Given the description of an element on the screen output the (x, y) to click on. 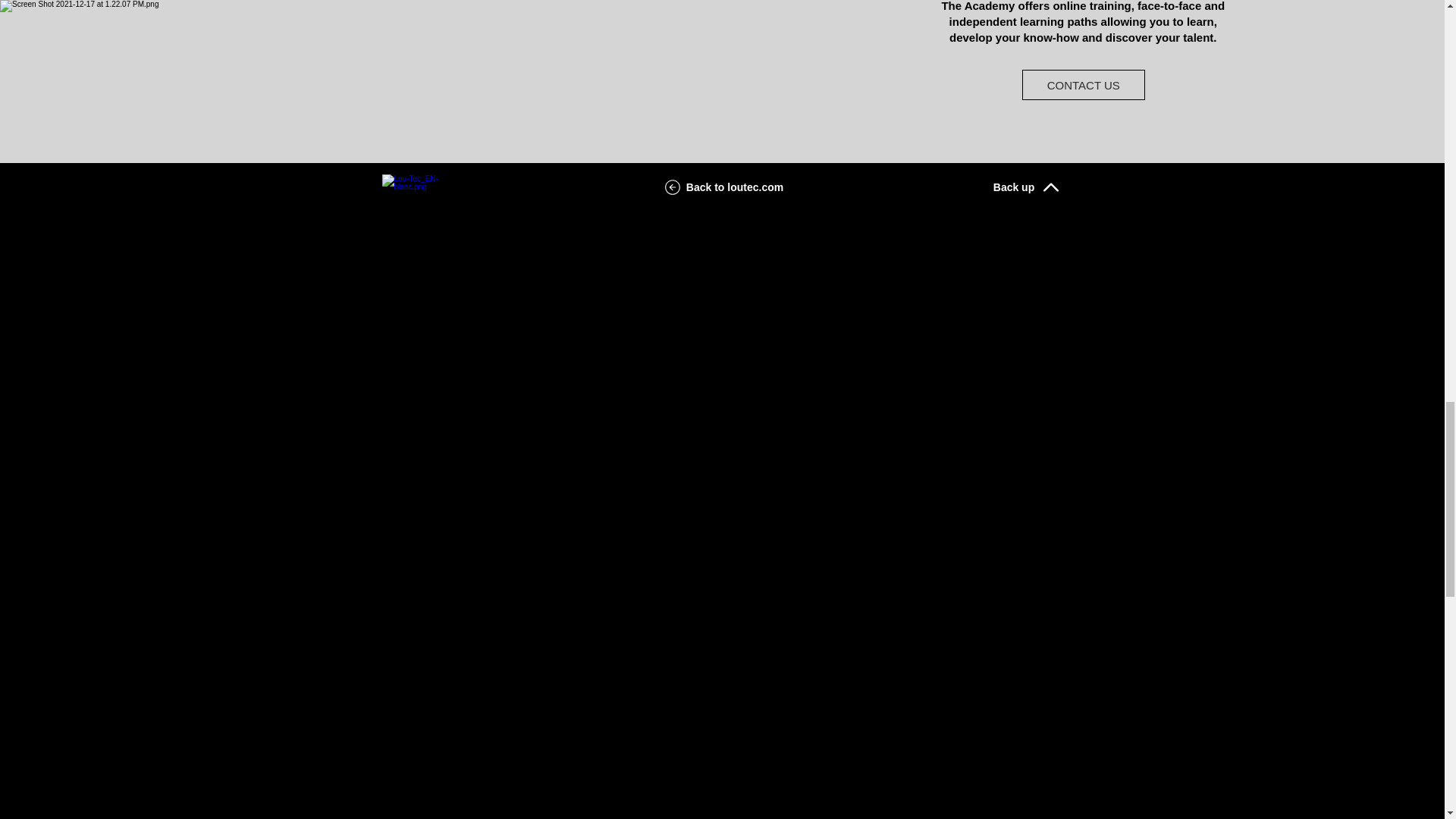
Back to loutec.com (722, 186)
CONTACT US (1083, 84)
Back up (1026, 186)
